Given the description of an element on the screen output the (x, y) to click on. 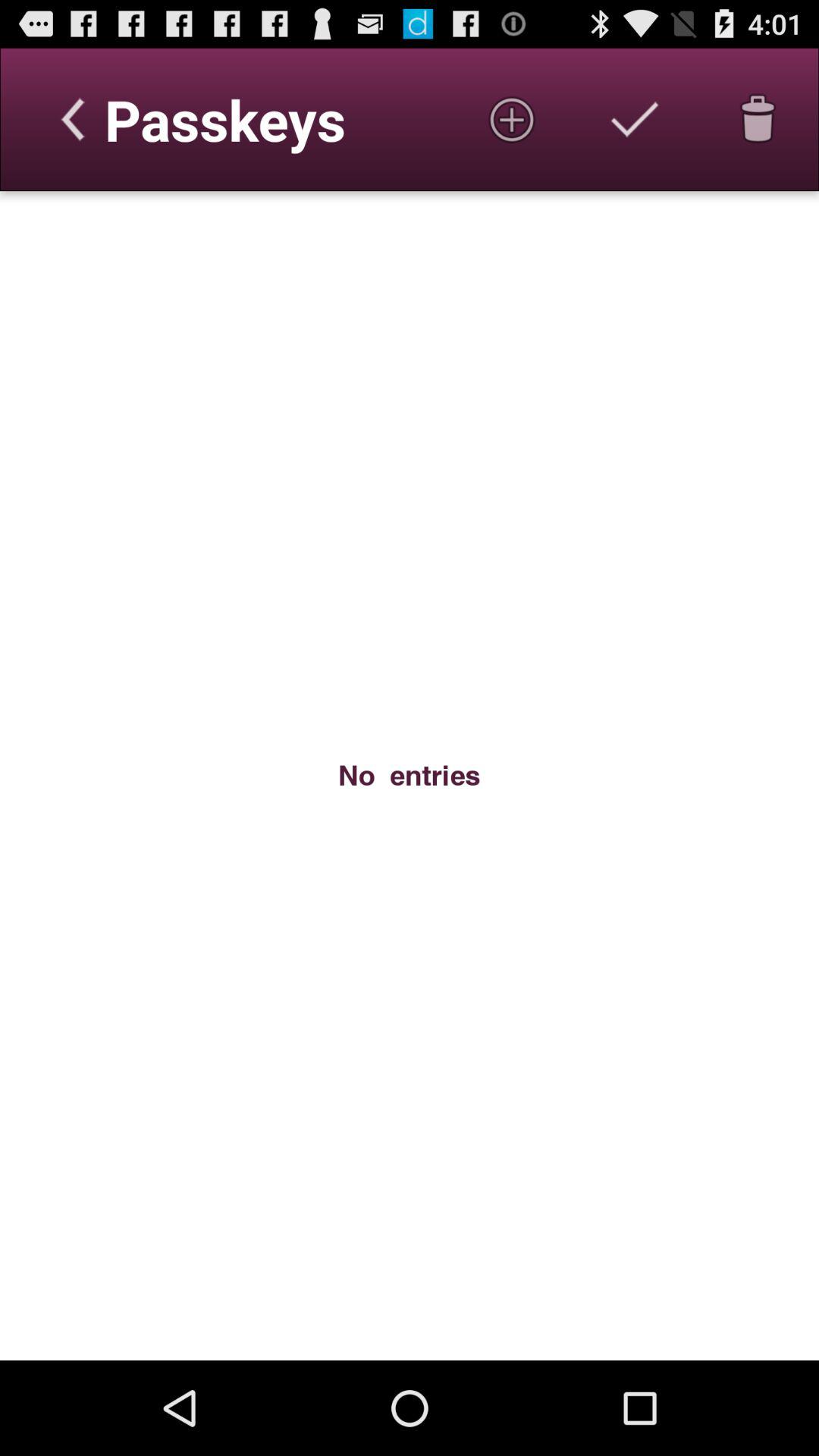
select option (634, 119)
